Given the description of an element on the screen output the (x, y) to click on. 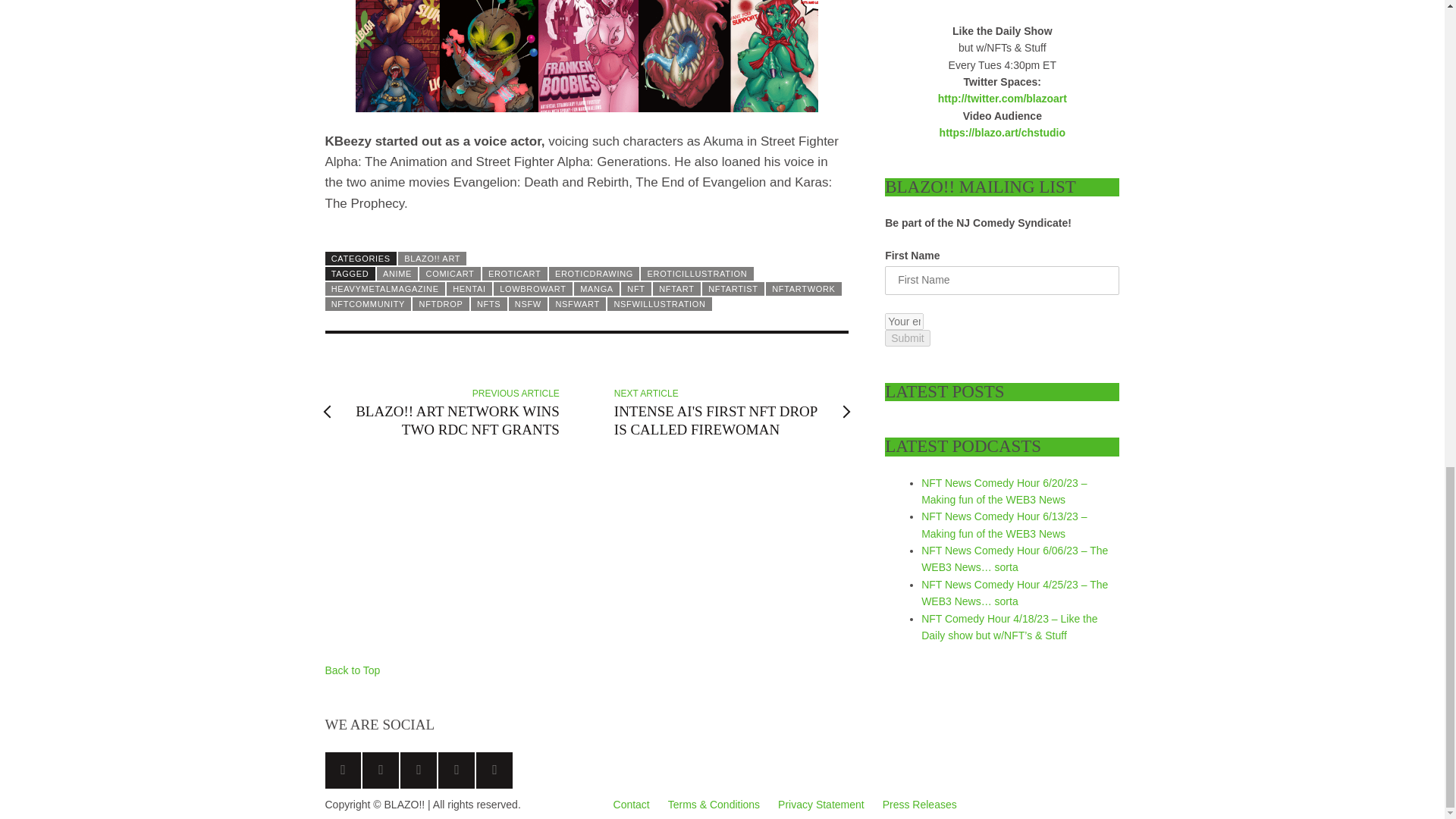
View all posts tagged eroticart (514, 273)
View all posts tagged anime (398, 273)
View all posts tagged hentai (469, 288)
View all posts tagged comicart (449, 273)
View all posts tagged manga (596, 288)
View all posts tagged heavymetalmagazine (384, 288)
View all posts tagged NFTart (676, 288)
View all posts tagged NFT (635, 288)
View all posts tagged NFTartist (732, 288)
View all posts tagged eroticillustration (696, 273)
